Given the description of an element on the screen output the (x, y) to click on. 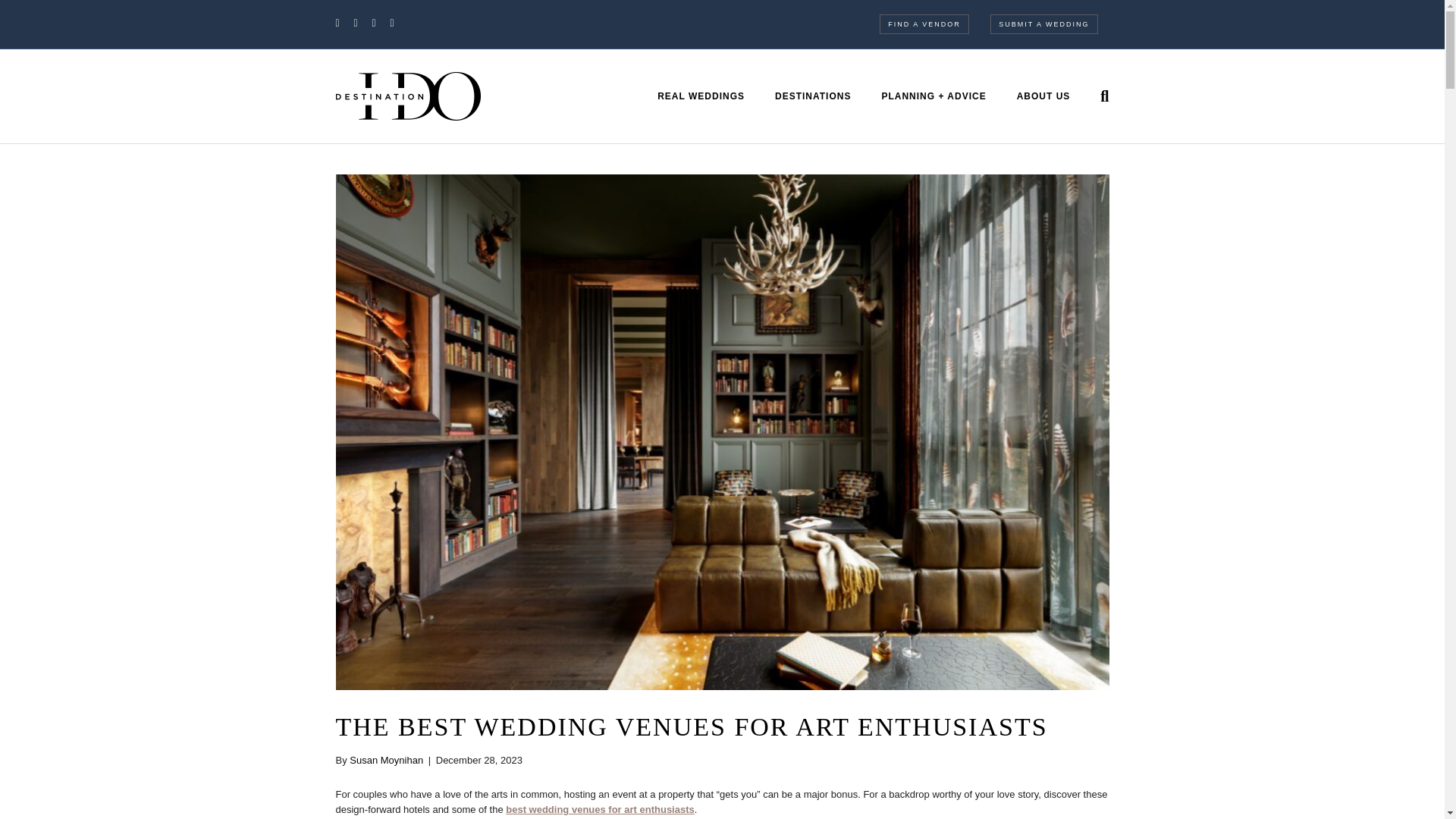
Pinterest (380, 22)
best wedding venues for art enthusiasts (599, 808)
Twitter (362, 22)
SUBMIT A WEDDING (1043, 24)
FIND A VENDOR (924, 24)
Instagram (398, 22)
Susan Moynihan (386, 759)
DESTINATIONS (813, 96)
REAL WEDDINGS (701, 96)
Facebook (343, 22)
ABOUT US (1043, 96)
